Given the description of an element on the screen output the (x, y) to click on. 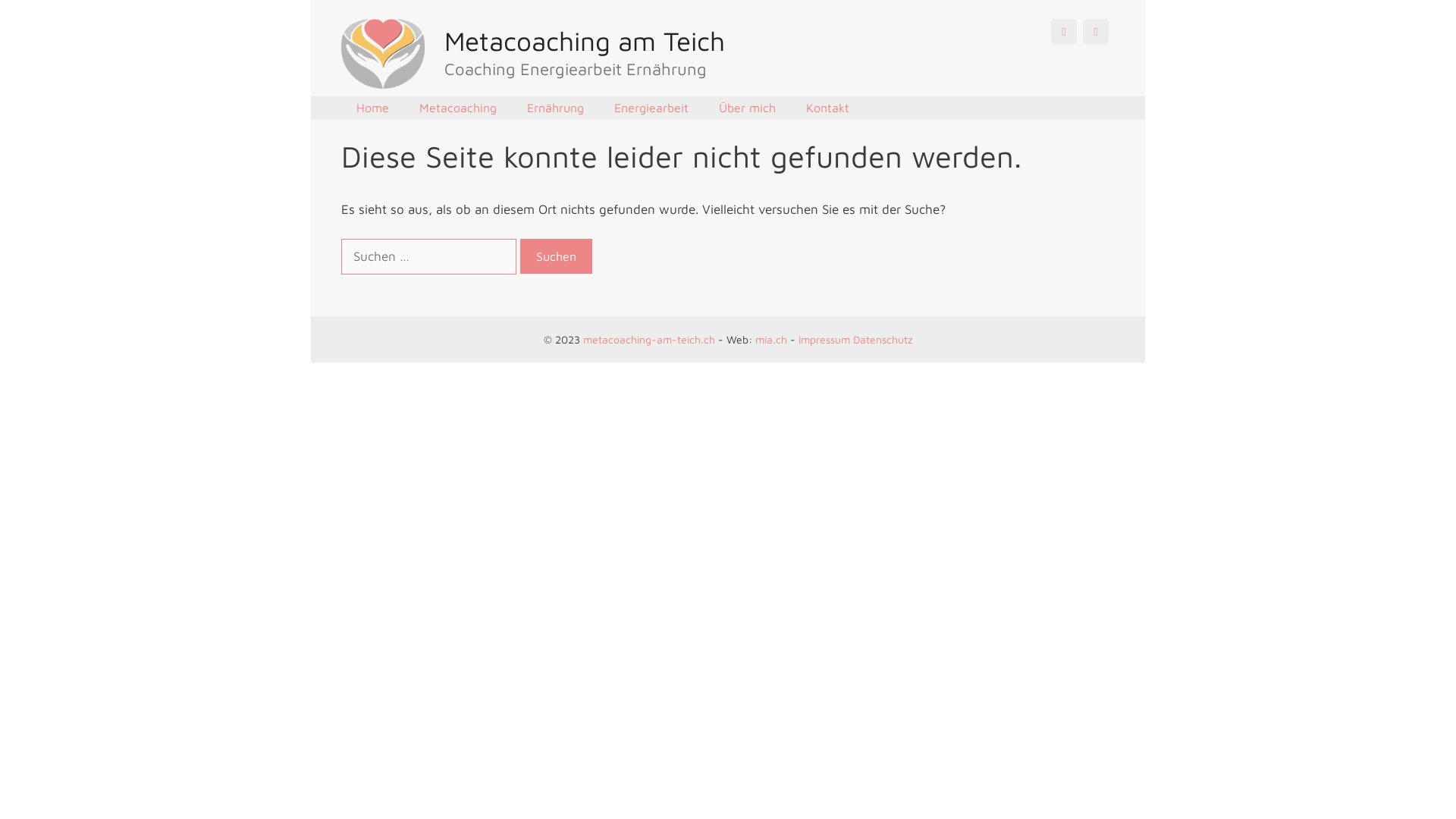
Phone Element type: hover (1063, 31)
mia.ch Element type: text (769, 338)
Impressum Datenschutz Element type: text (855, 338)
Suche nach: Element type: hover (428, 256)
Kontakt Element type: text (827, 107)
Home Element type: text (372, 107)
metacoaching-am-teich.ch Element type: text (649, 338)
Metacoaching Element type: text (457, 107)
Metacoaching am Teich Element type: text (584, 40)
Contact Element type: hover (1095, 31)
Energiearbeit Element type: text (651, 107)
Suchen Element type: text (556, 255)
